Given the description of an element on the screen output the (x, y) to click on. 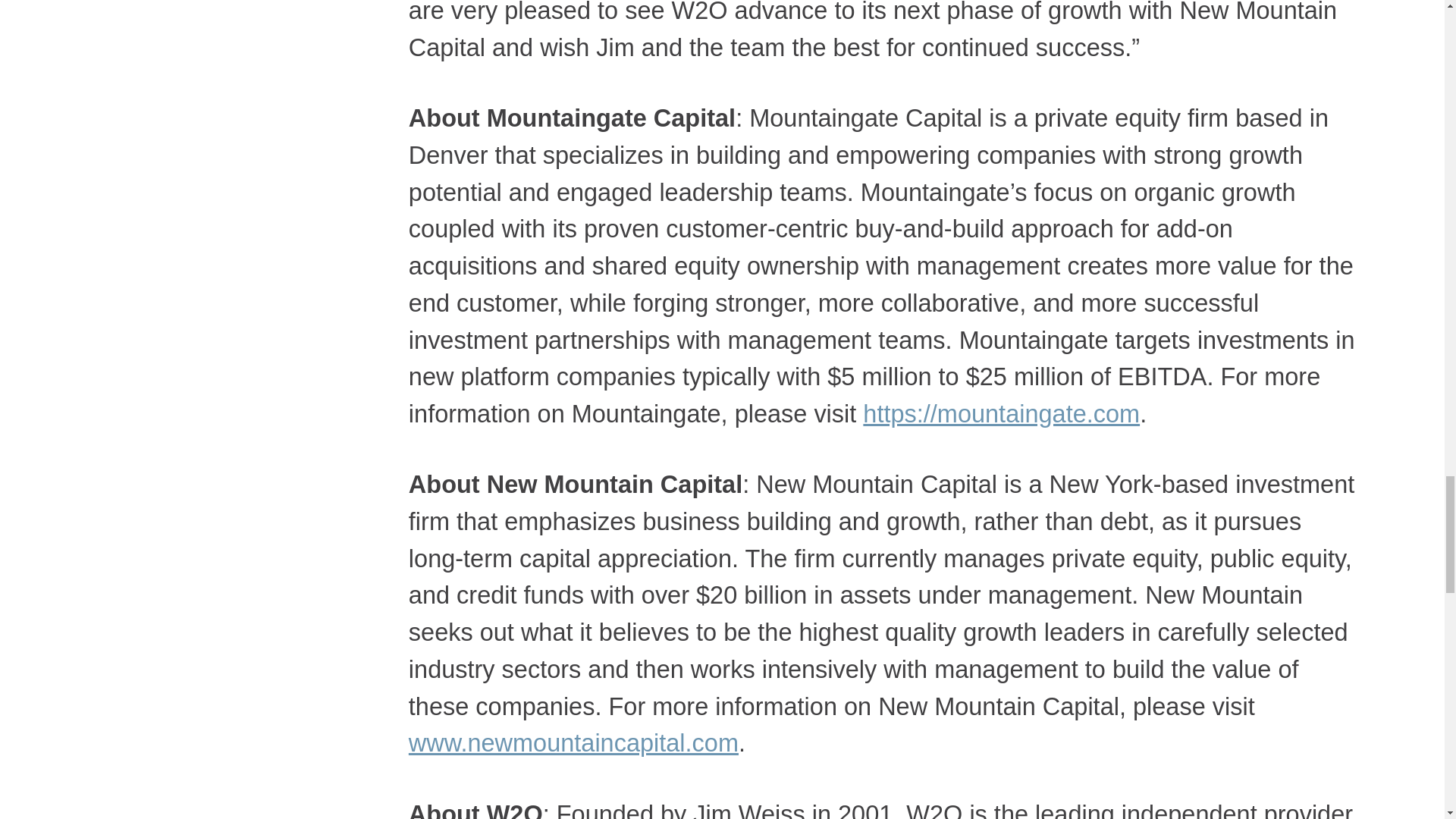
www.newmountaincapital.com (573, 742)
